Given the description of an element on the screen output the (x, y) to click on. 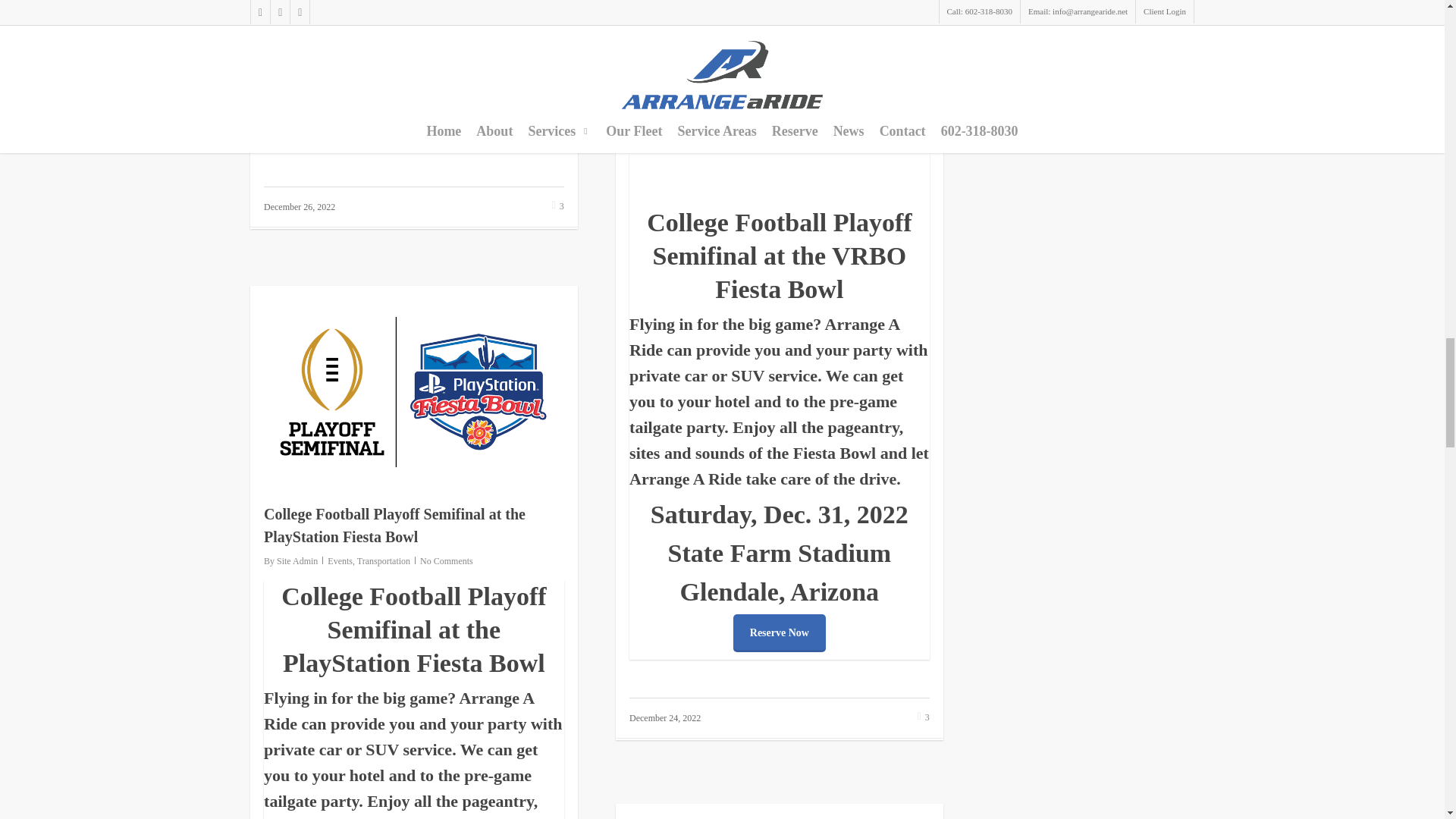
Love this (923, 717)
Posts by Site Admin (662, 73)
Love this (557, 206)
